Given the description of an element on the screen output the (x, y) to click on. 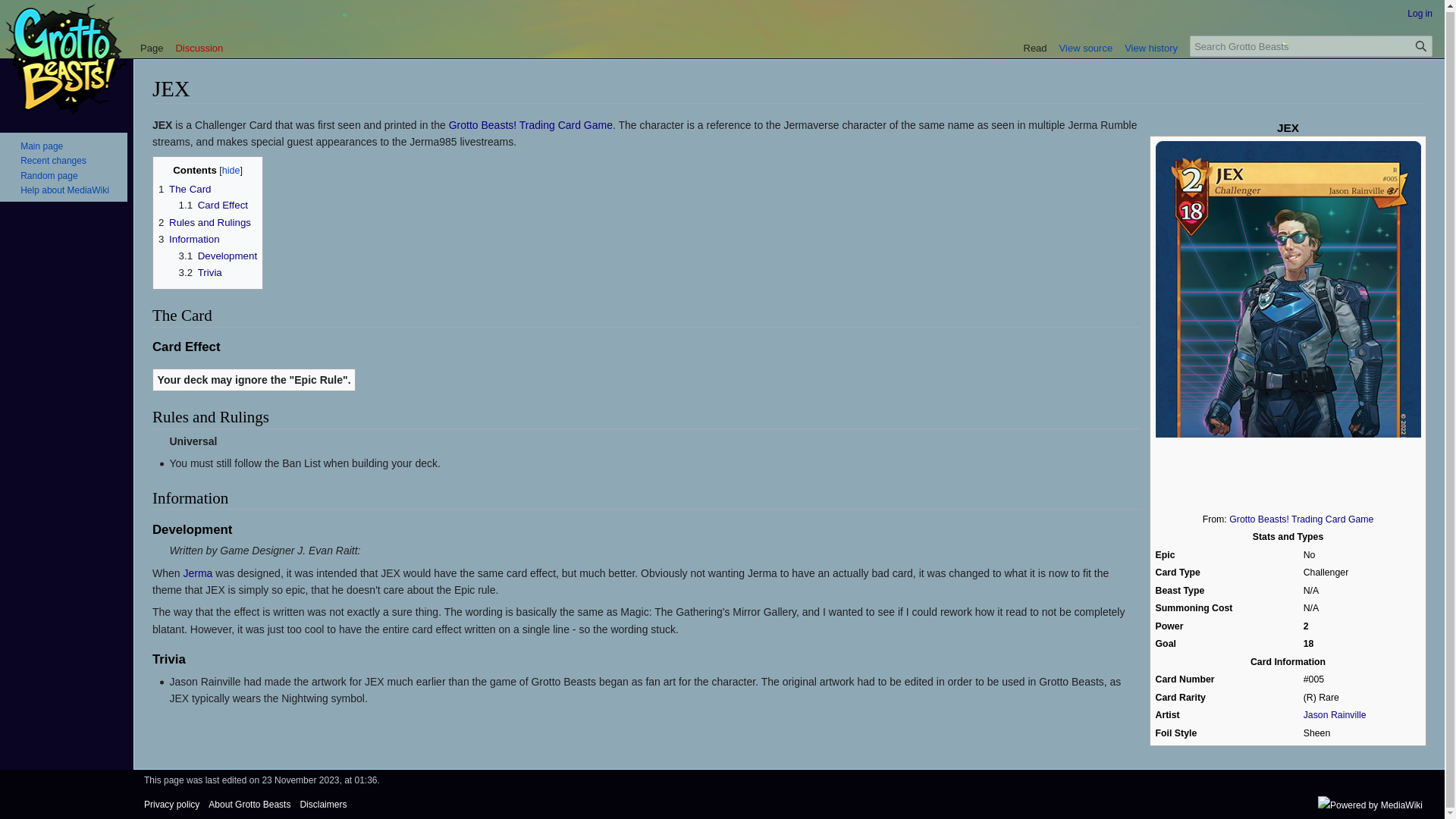
Grotto Beasts! Trading Card Game (1300, 519)
3 Information (188, 238)
Grotto Beasts! Trading Card Game (530, 124)
Go (1420, 46)
Search (1420, 46)
View history (1150, 44)
Log in (1419, 13)
2 Rules and Rulings (204, 222)
Jerma (197, 573)
Grotto Beasts! Trading Card Game (1300, 519)
Jason Rainville (1335, 715)
Jason Rainville (1335, 715)
Disclaimers (322, 804)
Read (1034, 44)
